Given the description of an element on the screen output the (x, y) to click on. 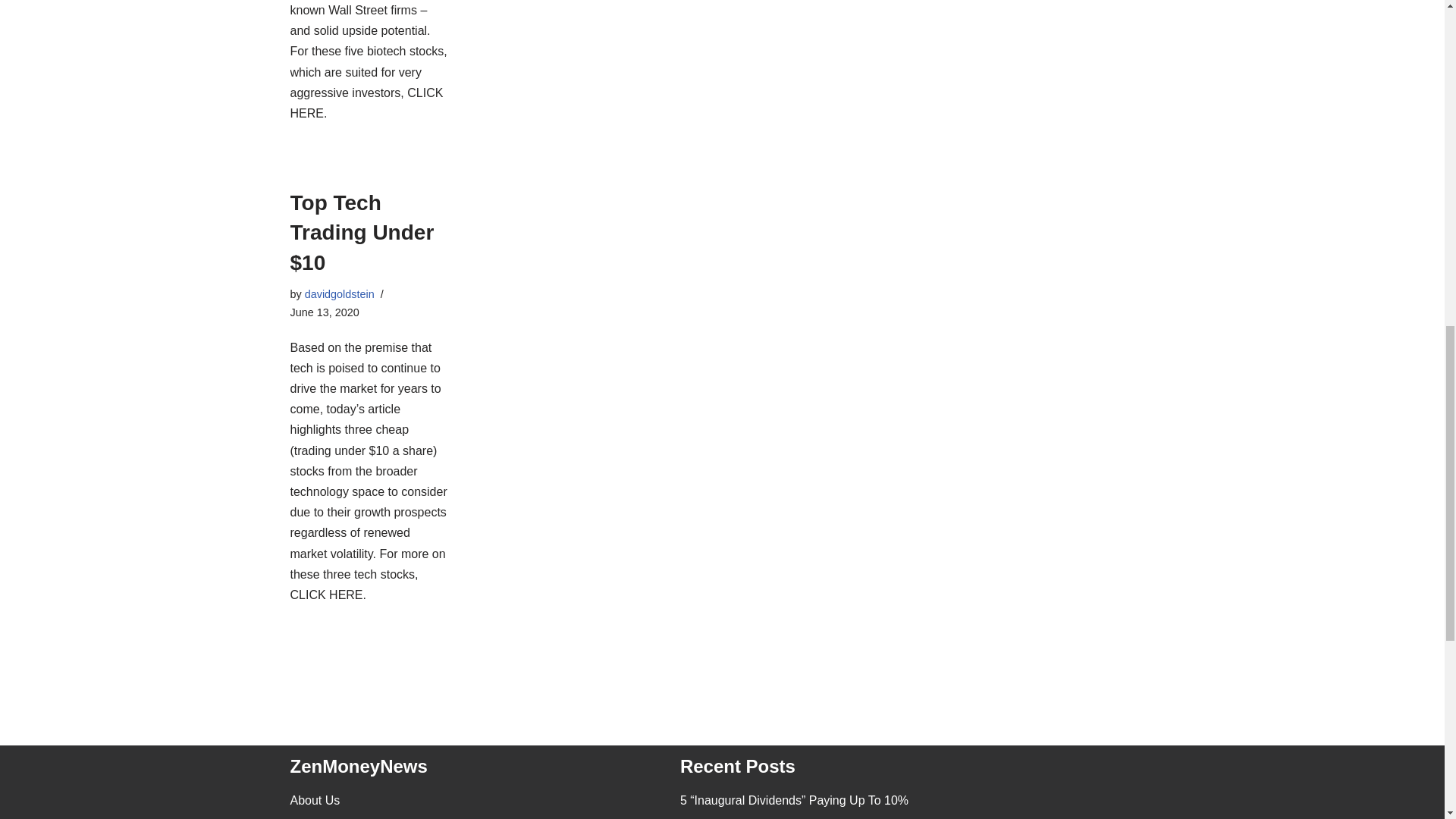
Posts by davidgoldstein (339, 294)
About Us (314, 799)
davidgoldstein (339, 294)
